Given the description of an element on the screen output the (x, y) to click on. 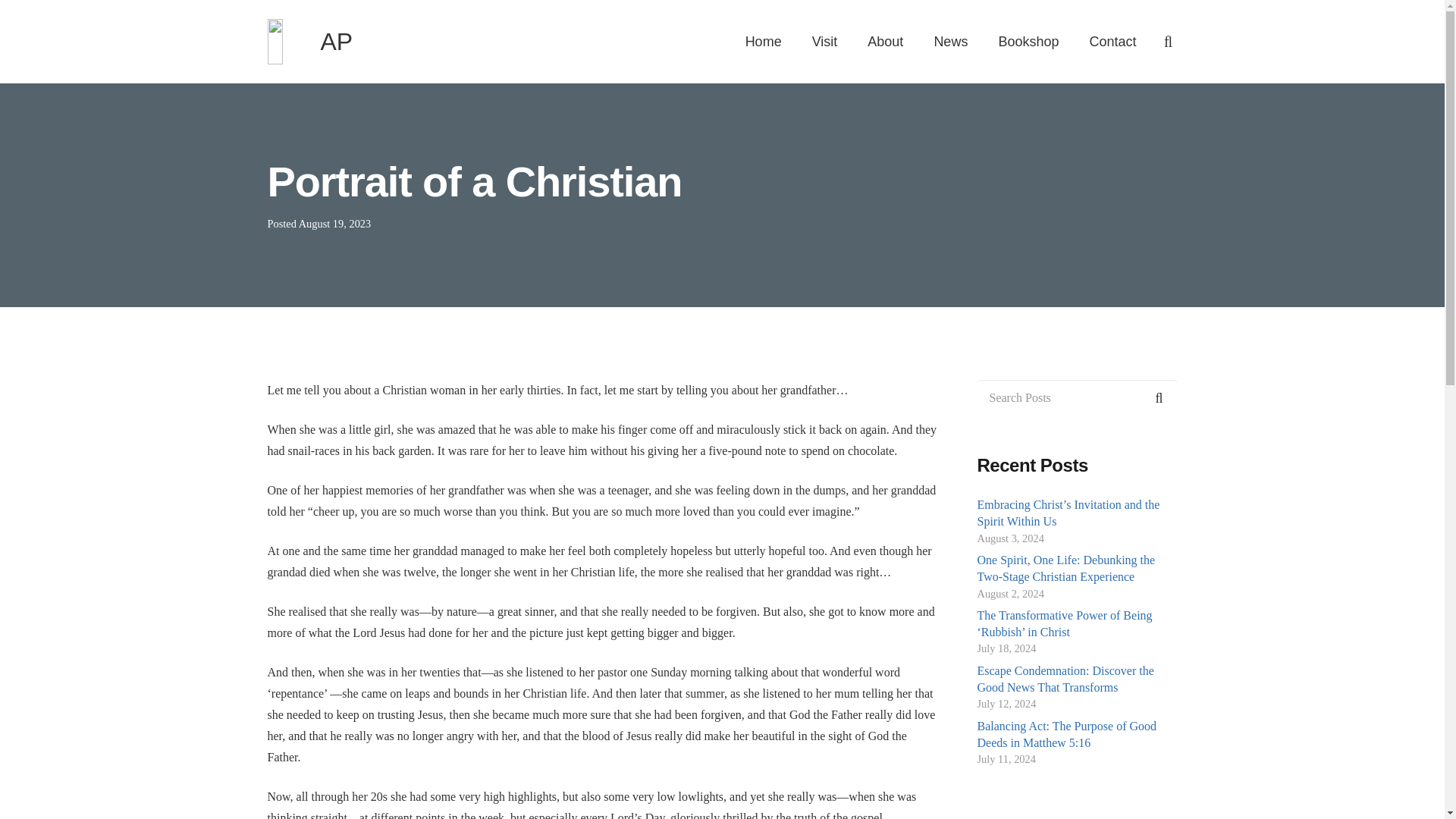
Bookshop (1028, 41)
YouTube (973, 606)
Escape Condemnation: Discover the Good News That Transforms (1064, 678)
Facebook (929, 606)
Contact (1112, 41)
Balancing Act: The Purpose of Good Deeds in Matthew 5:16 (1066, 734)
